Given the description of an element on the screen output the (x, y) to click on. 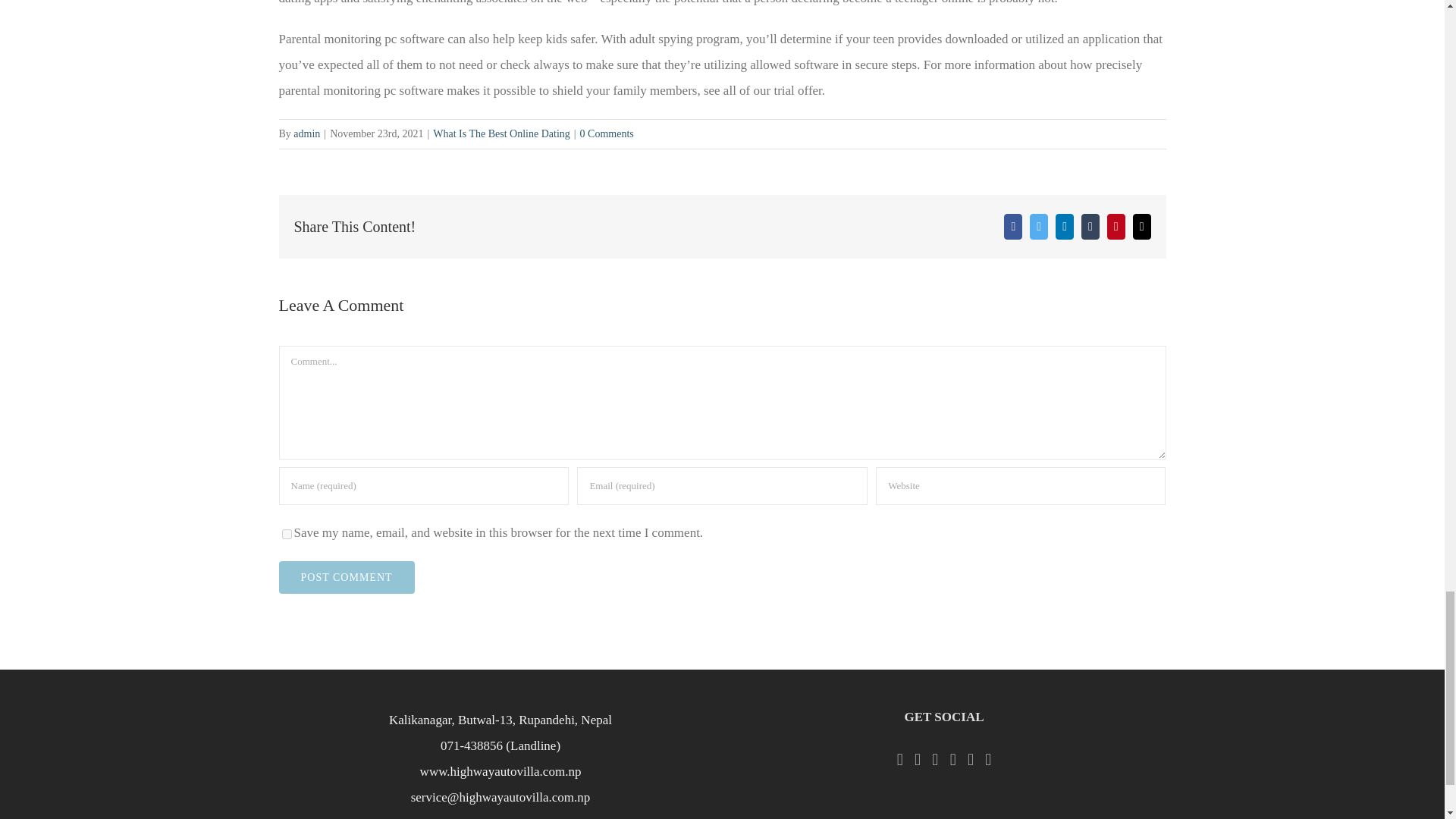
yes (287, 533)
Posts by admin (307, 133)
What Is The Best Online Dating (501, 133)
admin (307, 133)
Post Comment (346, 577)
Post Comment (346, 577)
0 Comments (606, 133)
